Given the description of an element on the screen output the (x, y) to click on. 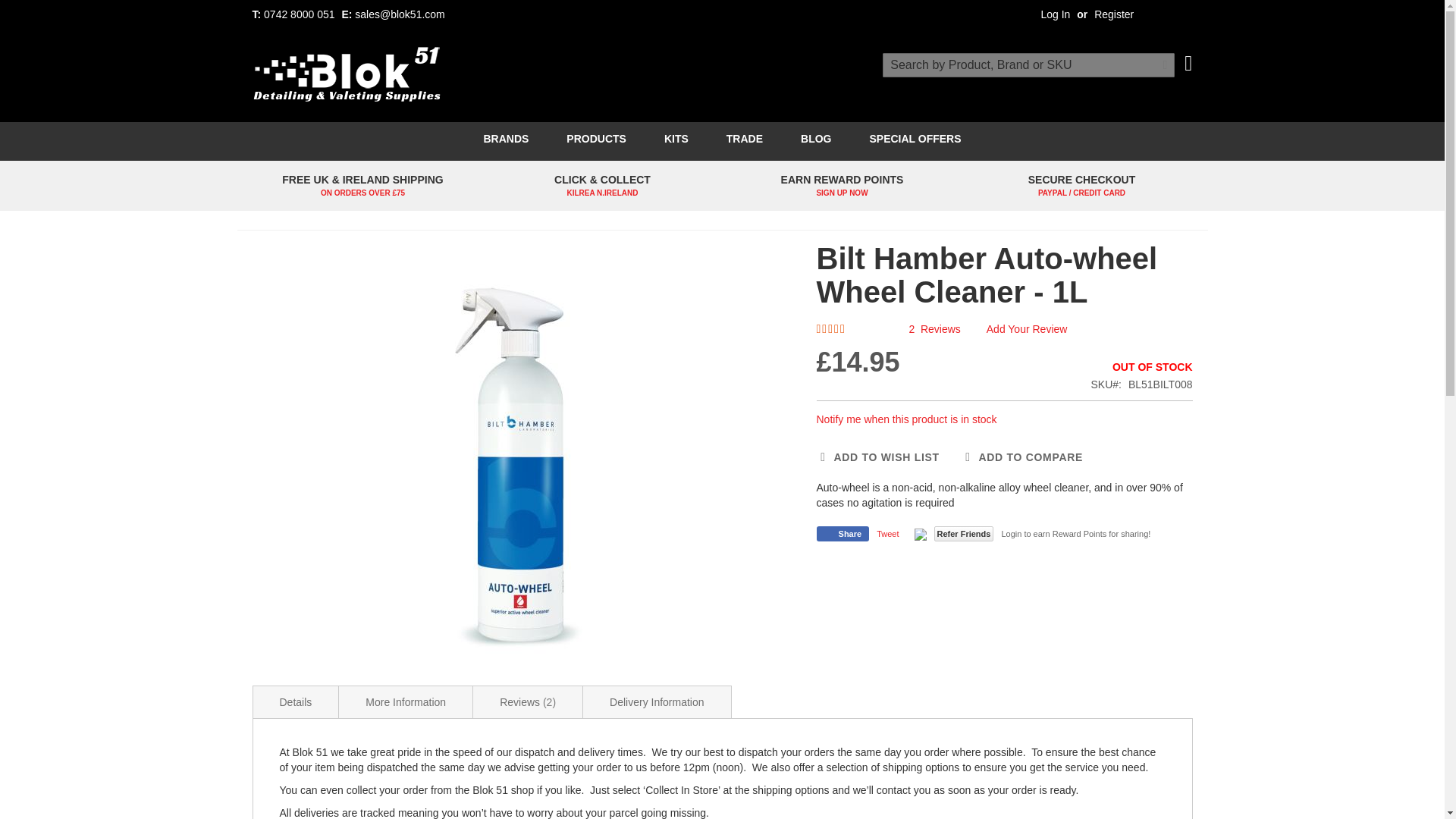
Notify me when this product is in stock (905, 419)
Availability (1141, 367)
BRANDS (505, 139)
Log In (1055, 14)
0742 8000 051 (298, 14)
Register (1114, 14)
